Given the description of an element on the screen output the (x, y) to click on. 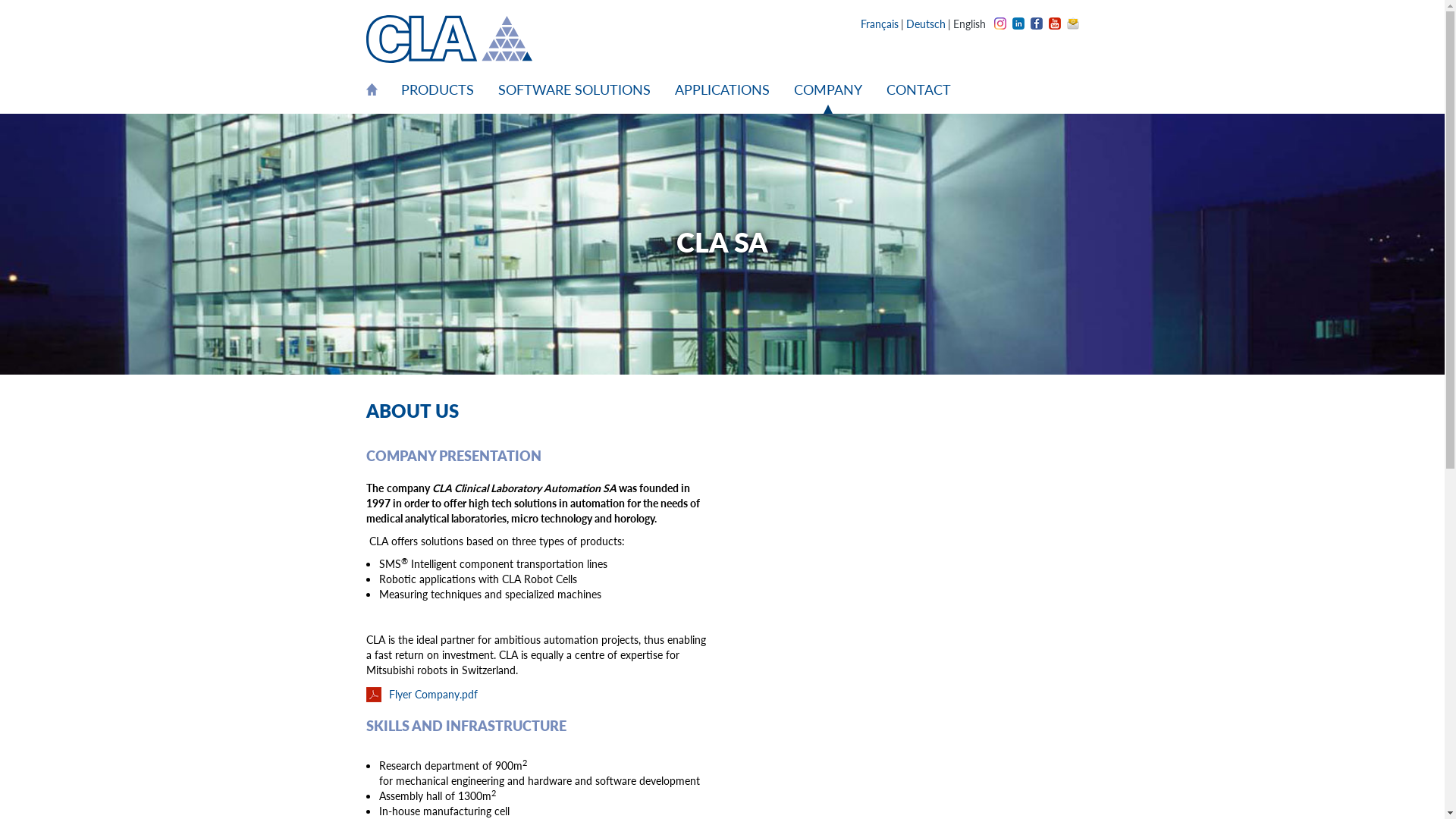
Flyer Company.pdf Element type: text (537, 693)
CLA - Clinical Laboratory Automation SA Element type: text (448, 38)
SOFTWARE SOLUTIONS Element type: text (573, 89)
HOMEPAGE Element type: text (376, 89)
Deutsch Element type: text (925, 23)
COMPANY Element type: text (827, 89)
PRODUCTS Element type: text (436, 89)
APPLICATIONS Element type: text (721, 89)
CONTACT Element type: text (911, 89)
